Given the description of an element on the screen output the (x, y) to click on. 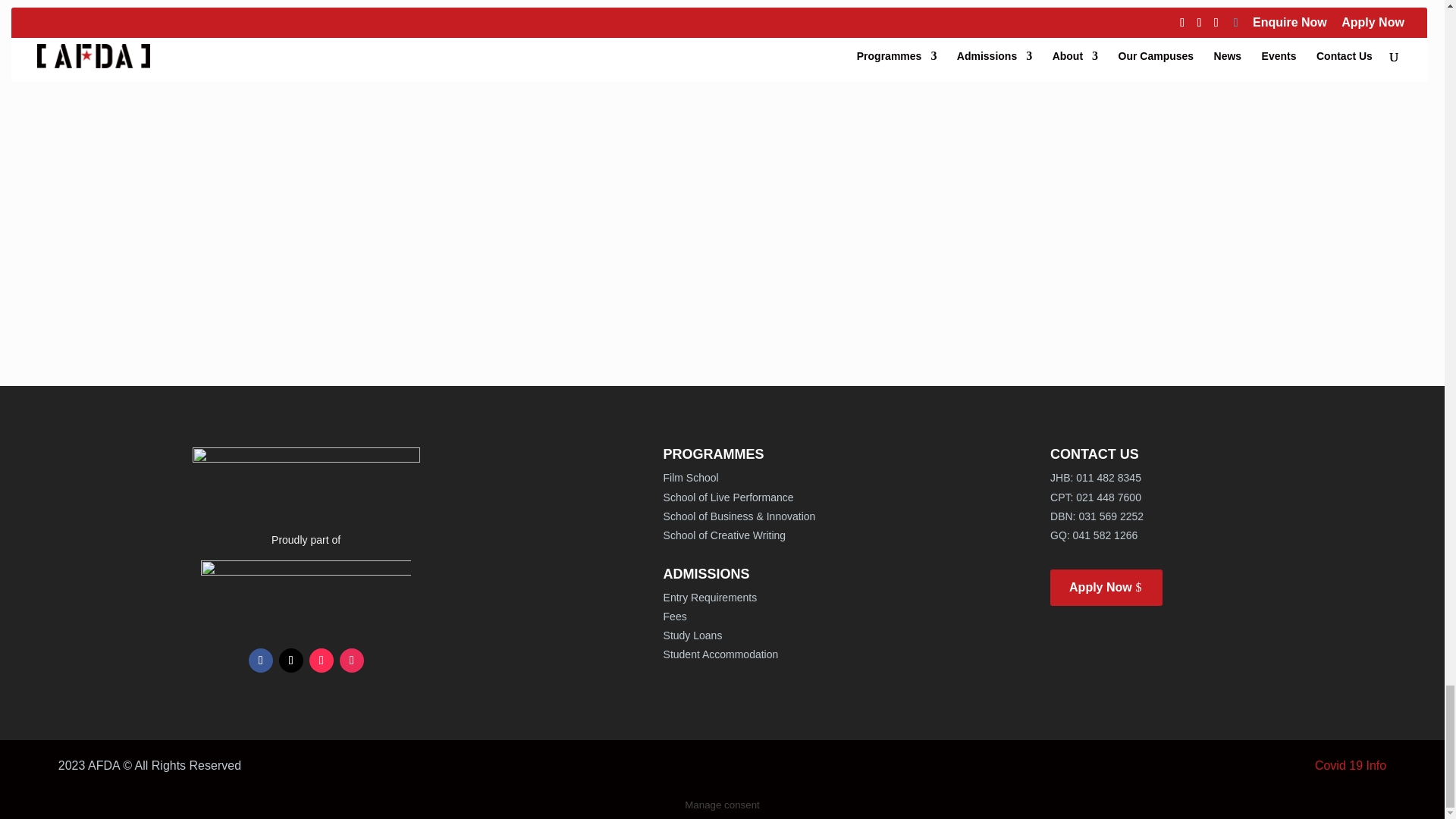
Follow on Facebook (260, 660)
stadio-holdings (306, 587)
Follow on TikTok (320, 660)
afda-logo-footer (306, 472)
Follow on Instagram (351, 660)
Follow on X (290, 660)
